Given the description of an element on the screen output the (x, y) to click on. 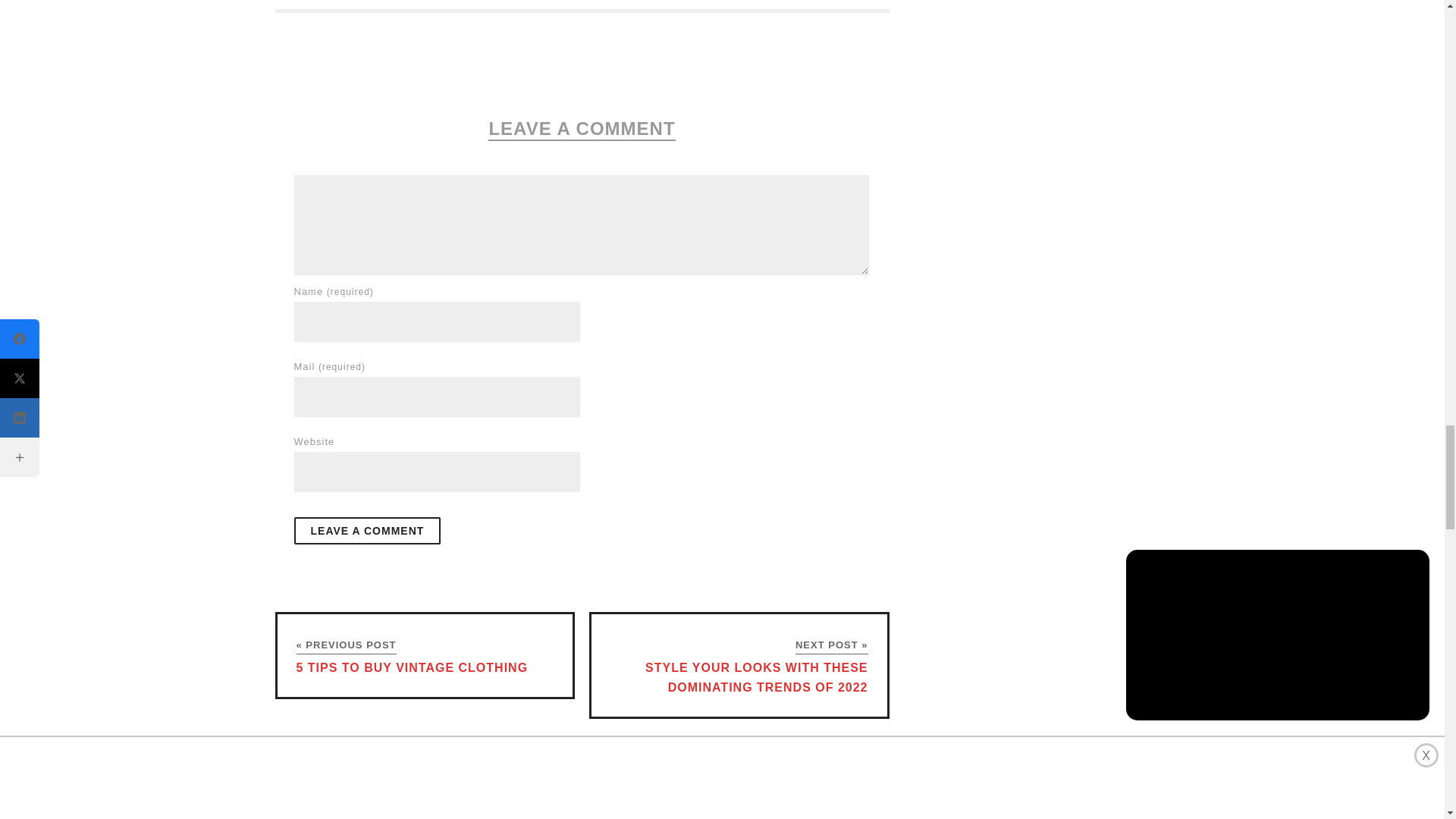
Leave a Comment (367, 530)
